Given the description of an element on the screen output the (x, y) to click on. 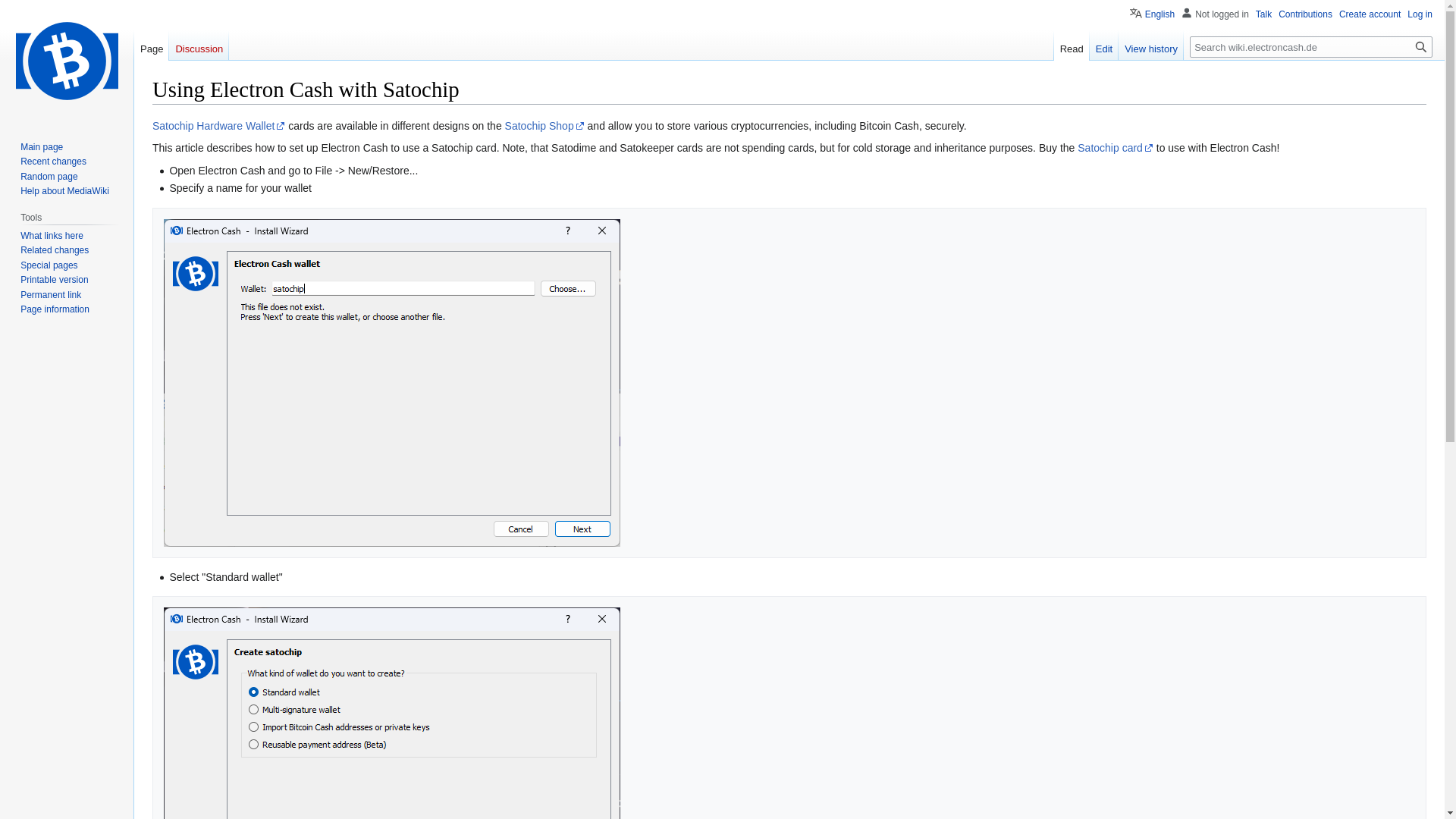
The user page for the IP address you are editing as (1222, 14)
Help about MediaWiki (64, 190)
Edit (1103, 45)
Satochip Hardware Wallet (218, 125)
Create account (1369, 14)
Log in (1419, 14)
Go (1420, 46)
What links here (51, 235)
Search (1420, 46)
